Given the description of an element on the screen output the (x, y) to click on. 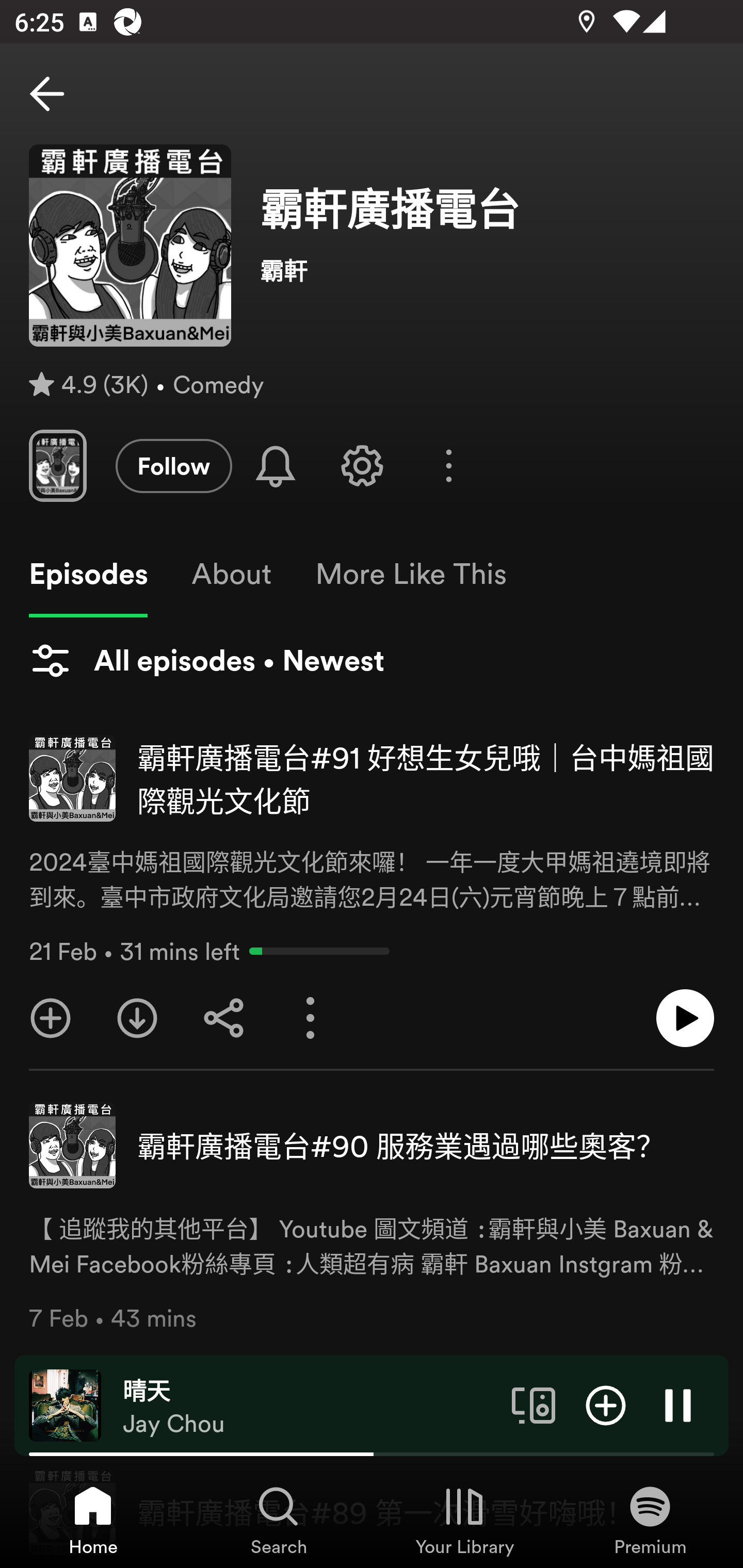
Back (46, 93)
霸軒 (487, 269)
Enable notifications for new episodes of 霸軒廣播電台. (274, 465)
Settings for this Show. (361, 465)
More options for show 霸軒廣播電台 (448, 465)
Follow Follow this Show (173, 465)
About (231, 573)
More Like This (410, 573)
All episodes • Newest (206, 660)
Add 霸軒廣播電台#91 好想生女兒哦｜台中媽祖國際觀光文化節 to Your Episodes (50, 1018)
Download episode: 霸軒廣播電台#91 好想生女兒哦｜台中媽祖國際觀光文化節 (136, 1018)
Share (223, 1018)
Play episode: 霸軒廣播電台#91 好想生女兒哦｜台中媽祖國際觀光文化節 (684, 1018)
晴天 Jay Chou (309, 1405)
The cover art of the currently playing track (64, 1404)
Connect to a device. Opens the devices menu (533, 1404)
Add item (605, 1404)
Pause (677, 1404)
Home, Tab 1 of 4 Home Home (92, 1519)
Search, Tab 2 of 4 Search Search (278, 1519)
Your Library, Tab 3 of 4 Your Library Your Library (464, 1519)
Premium, Tab 4 of 4 Premium Premium (650, 1519)
